Given the description of an element on the screen output the (x, y) to click on. 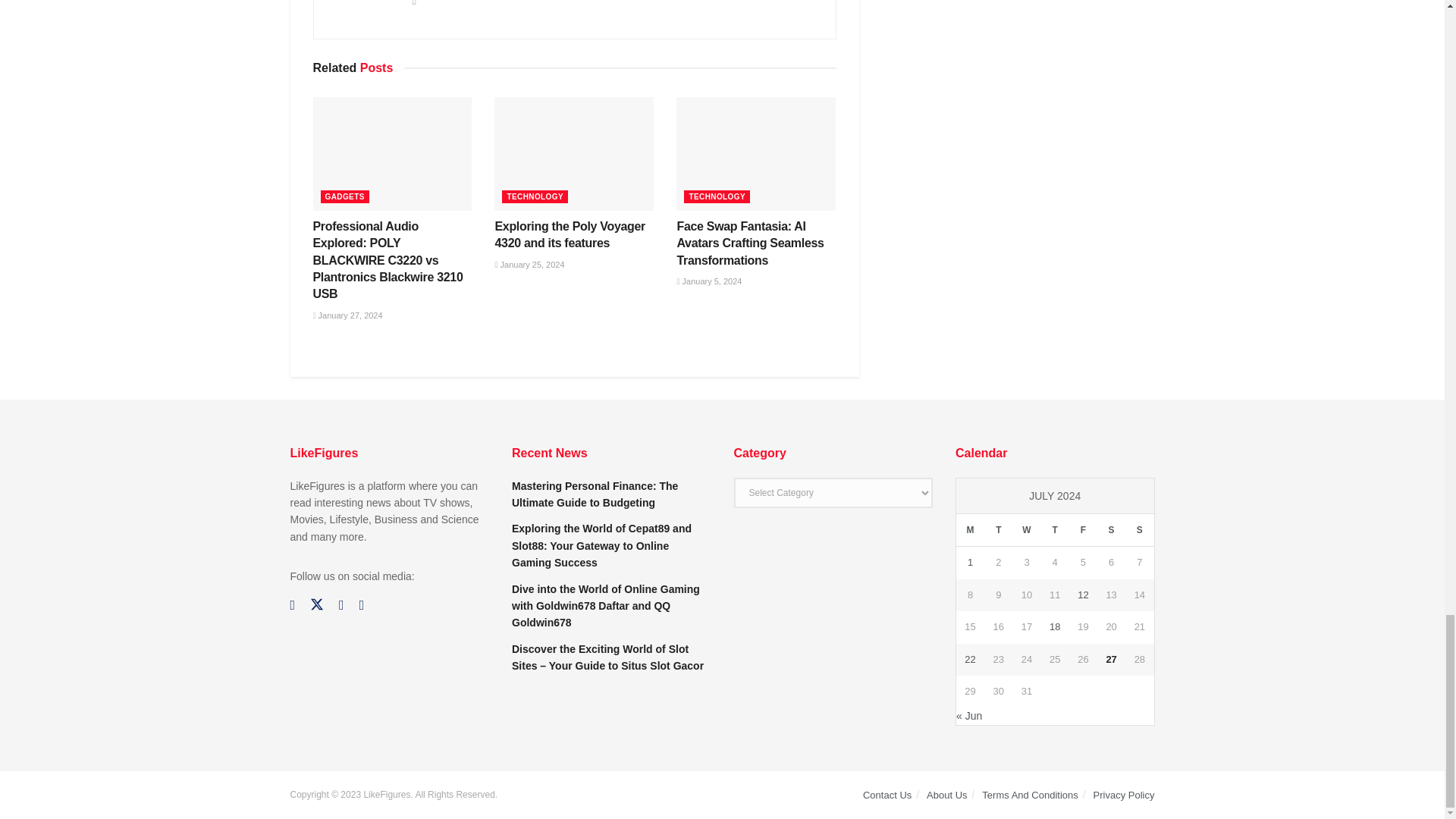
Tuesday (997, 530)
Wednesday (1026, 530)
Sunday (1139, 530)
Thursday (1054, 530)
Saturday (1111, 530)
Monday (970, 530)
Friday (1082, 530)
